Given the description of an element on the screen output the (x, y) to click on. 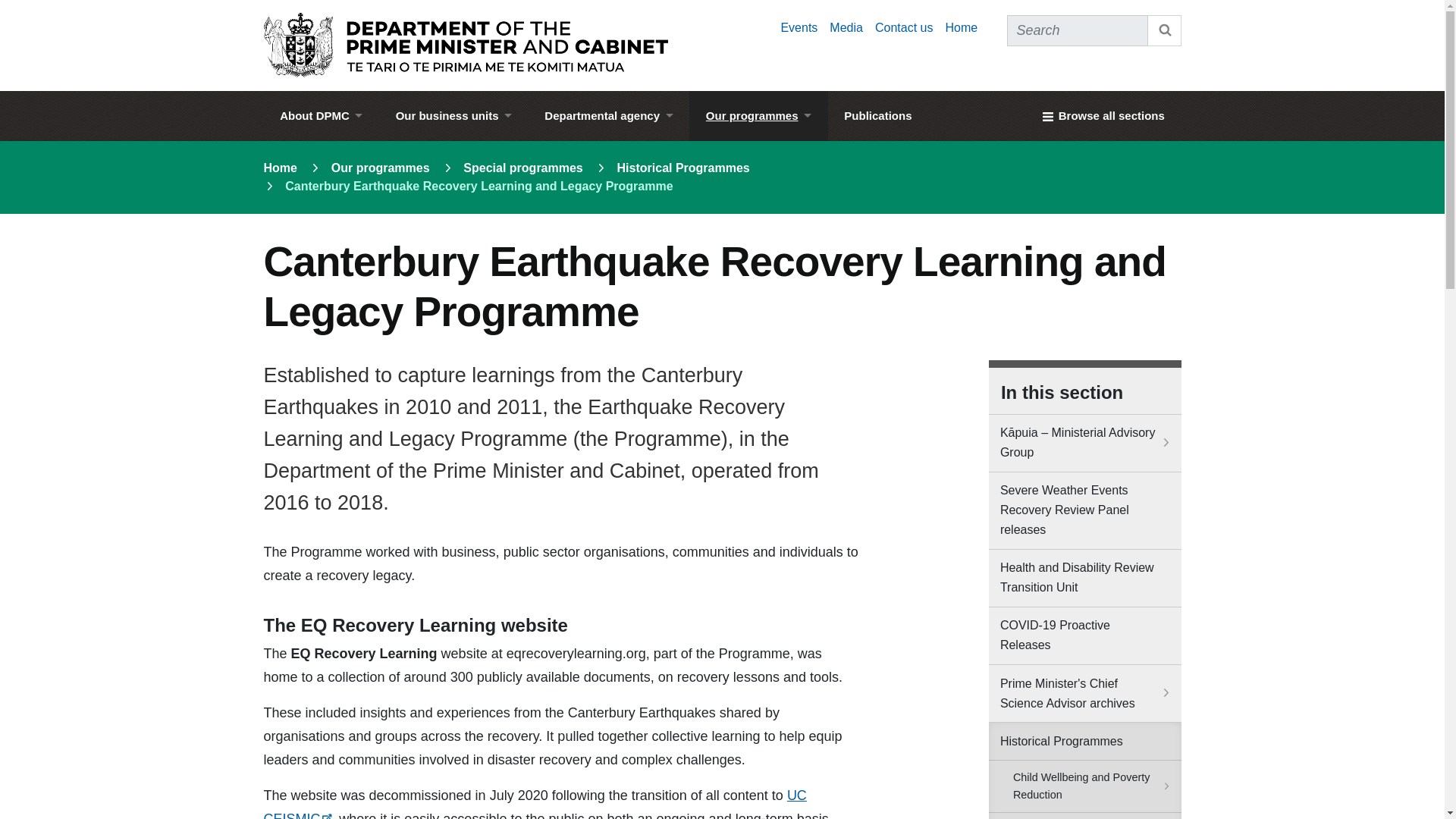
Search (1164, 30)
Search (1164, 30)
Home (960, 27)
Media (846, 27)
Events (798, 27)
Skip to main content (722, 5)
About DPMC (320, 115)
Our business units (453, 115)
Contact us (904, 27)
